Given the description of an element on the screen output the (x, y) to click on. 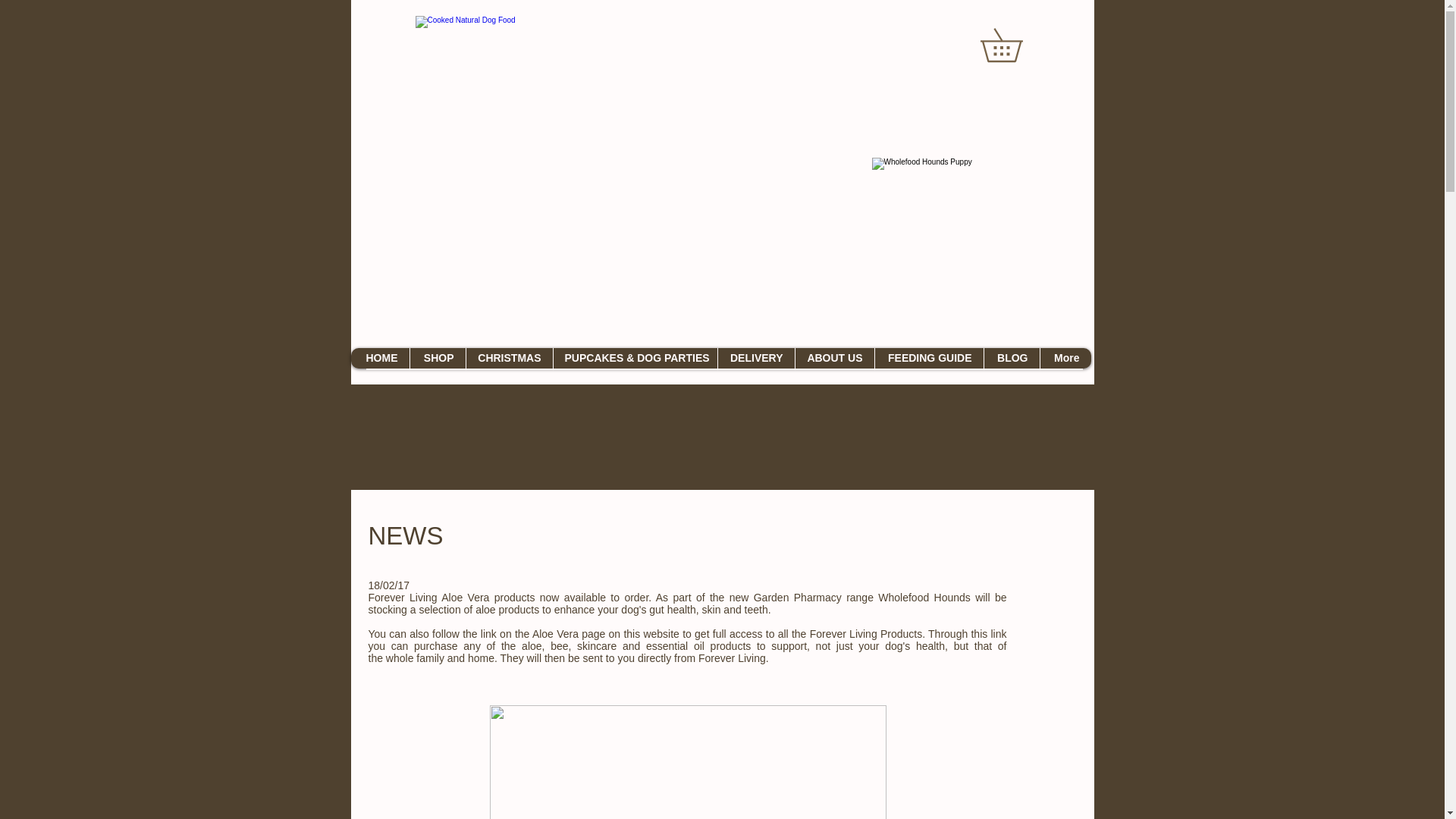
CHRISTMAS (509, 358)
SHOP (437, 358)
FEEDING GUIDE (927, 358)
ABOUT US (834, 358)
BLOG (1010, 358)
Natural Pet Food Delivery Perth WA (971, 238)
DELIVERY (755, 358)
HOME (379, 358)
